Given the description of an element on the screen output the (x, y) to click on. 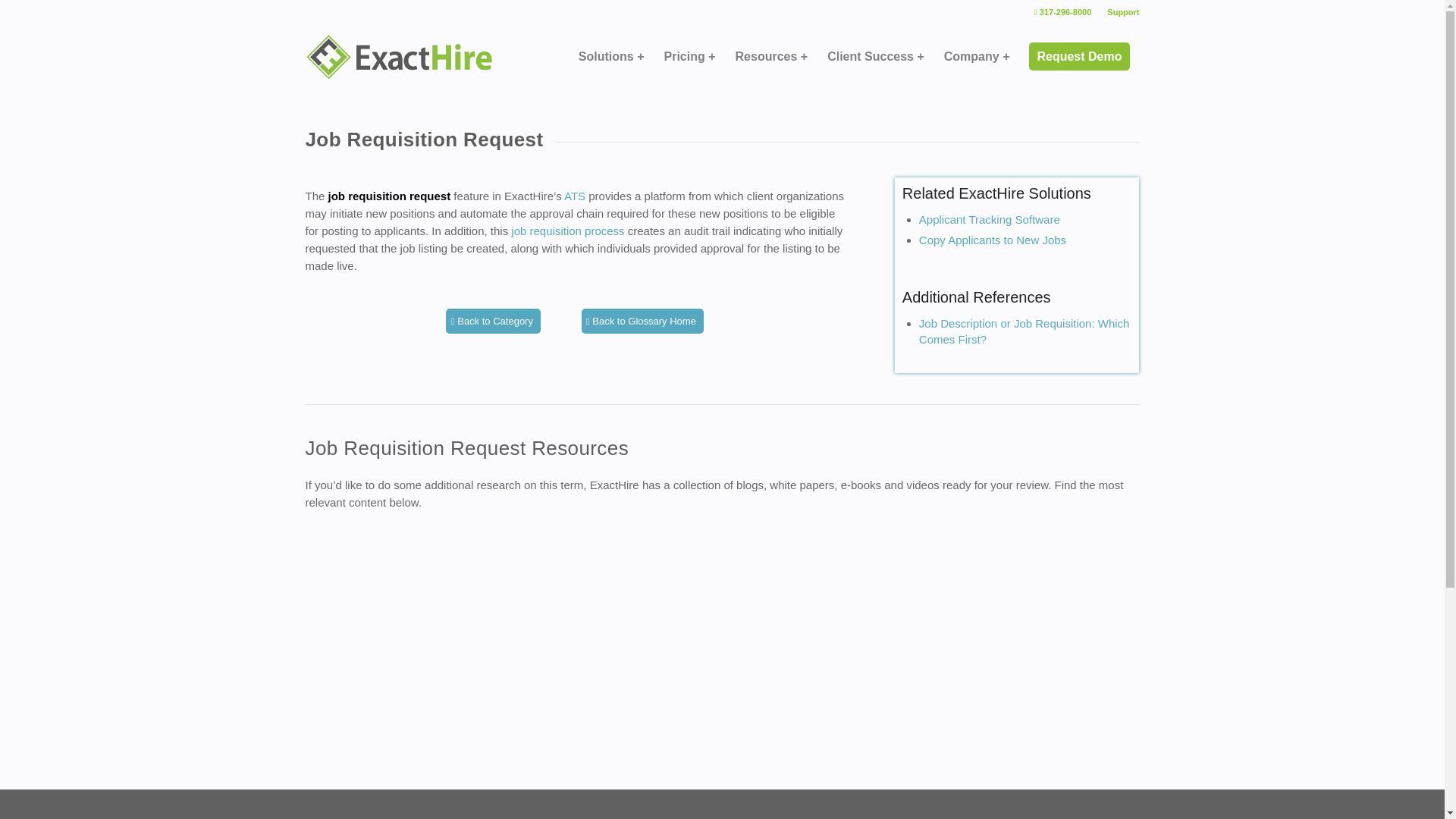
317-296-8000 (1062, 12)
Applicant Tracking Software (574, 195)
Request Demo (1078, 56)
Support (1122, 12)
Job Requisition Management With HireCentric ATS Software (567, 230)
ATS (574, 195)
